Given the description of an element on the screen output the (x, y) to click on. 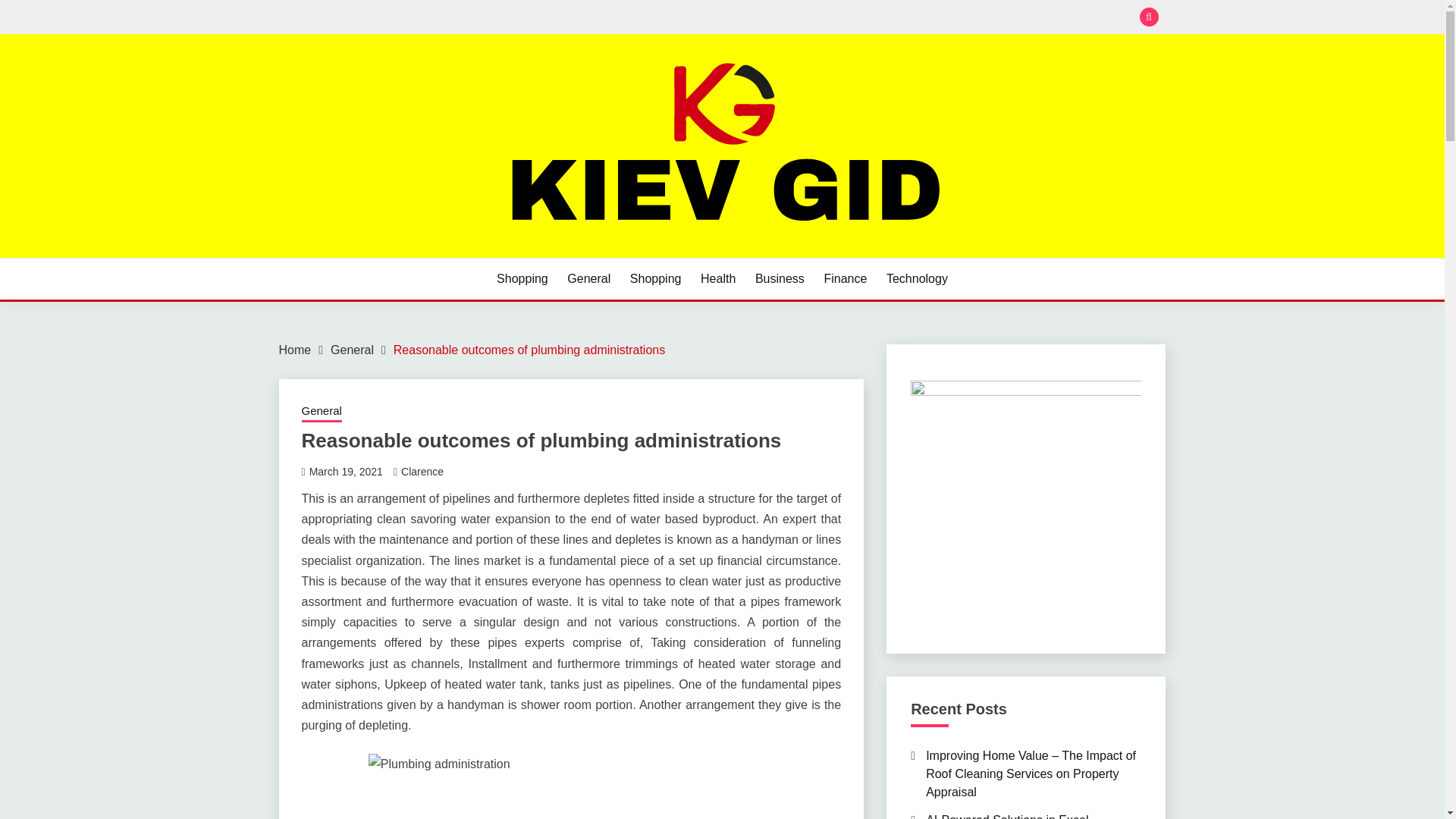
General (352, 349)
Home (295, 349)
Reasonable outcomes of plumbing administrations (529, 349)
Health (717, 279)
Shopping (655, 279)
March 19, 2021 (345, 471)
Shopping (522, 279)
General (321, 412)
Search (832, 18)
KIEV GID (340, 255)
